Given the description of an element on the screen output the (x, y) to click on. 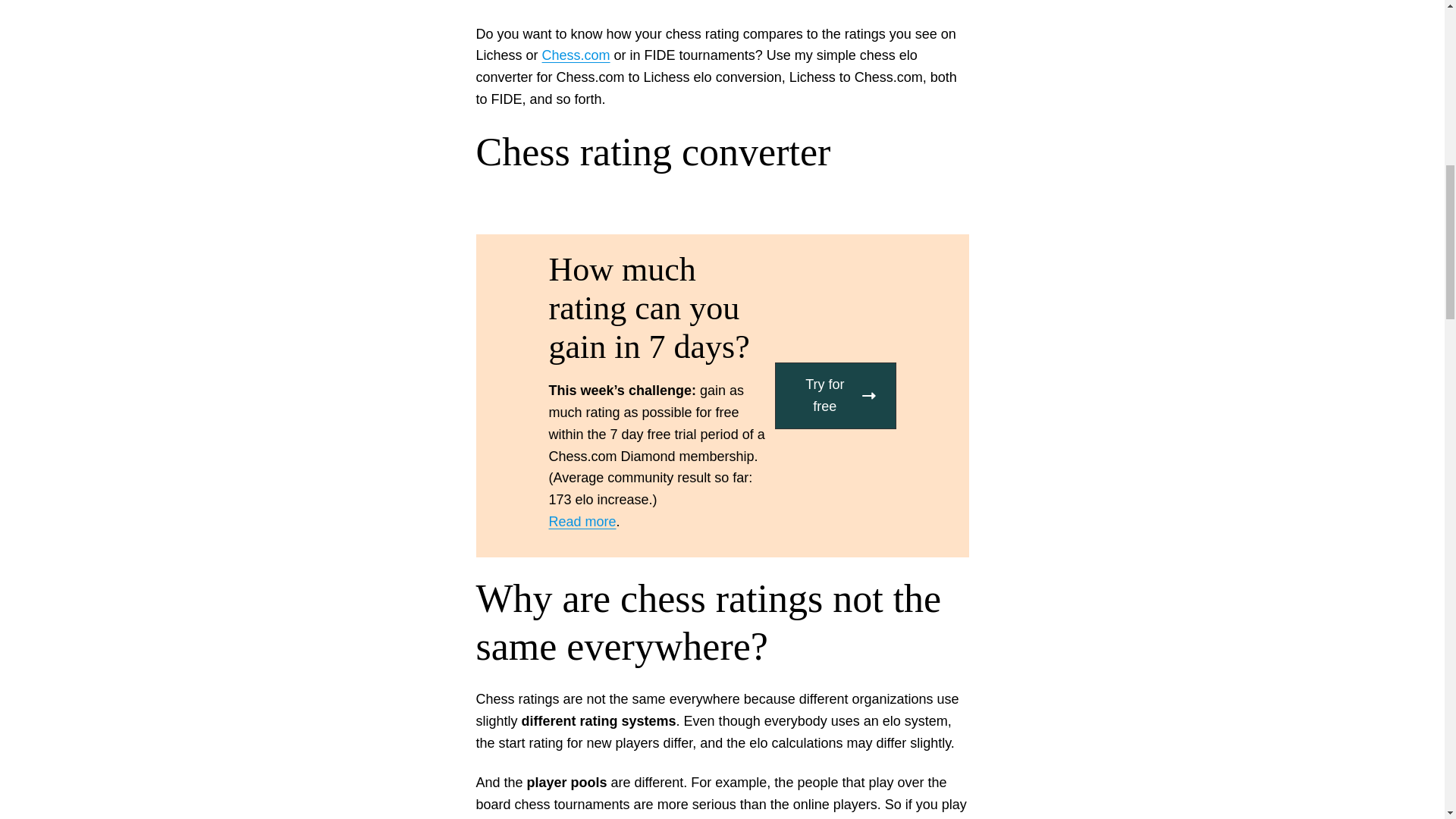
Chess.com (575, 55)
Read more (581, 521)
Try for free (835, 395)
